Given the description of an element on the screen output the (x, y) to click on. 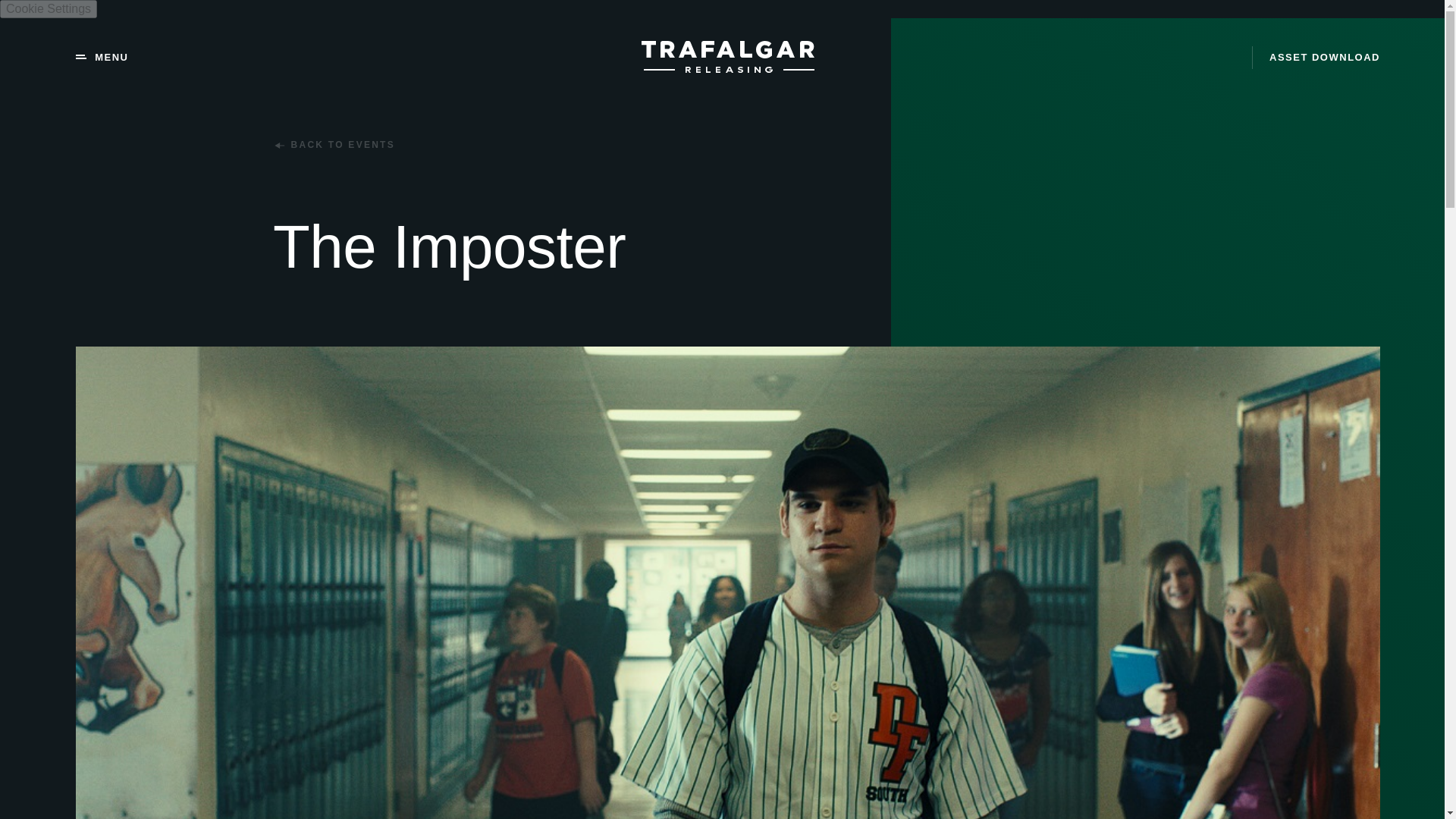
ASSET DOWNLOAD (1316, 56)
MENU (101, 57)
Cookie Settings (48, 9)
BACK TO EVENTS (333, 144)
